Given the description of an element on the screen output the (x, y) to click on. 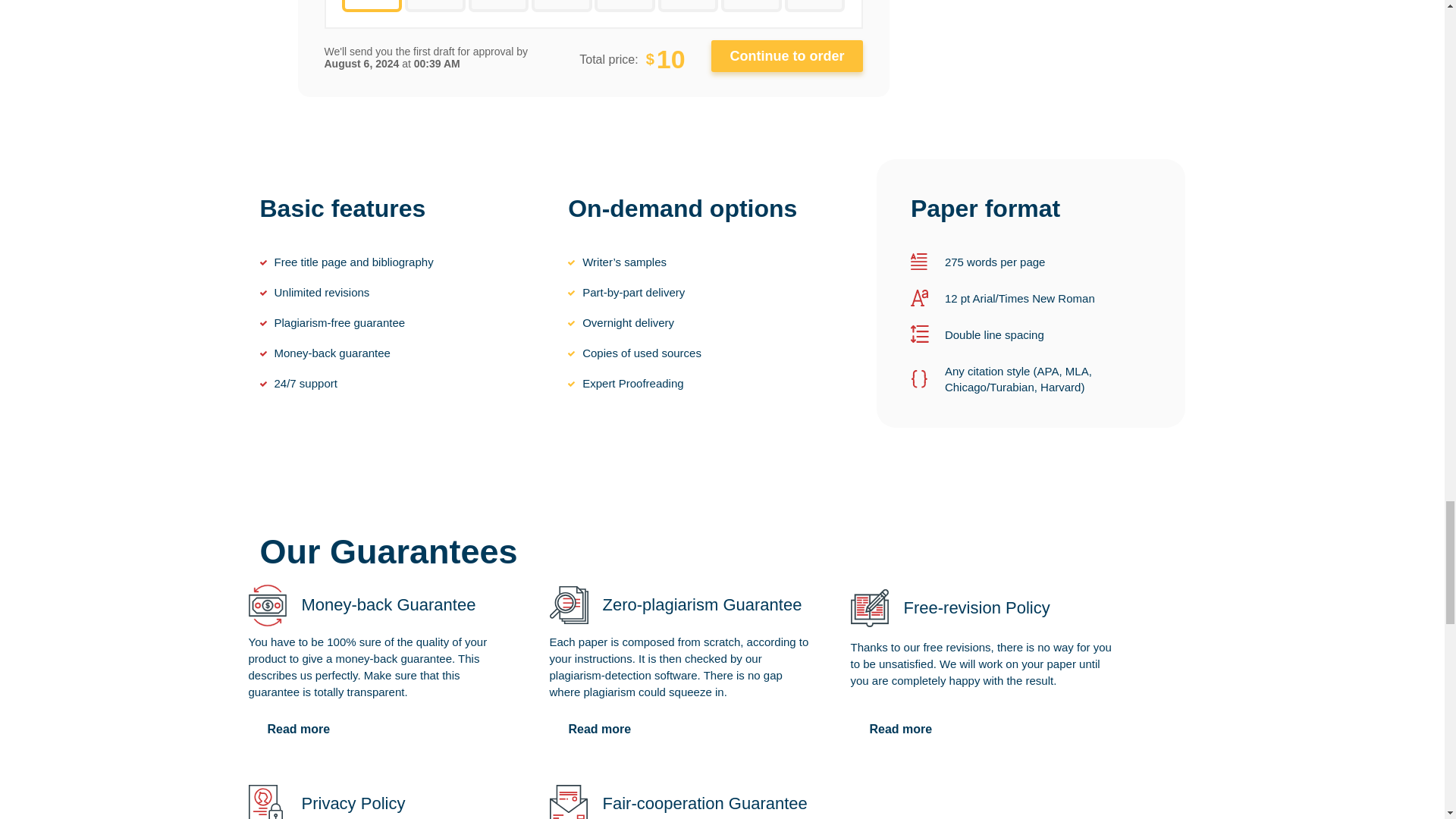
Continue to order (787, 56)
